Given the description of an element on the screen output the (x, y) to click on. 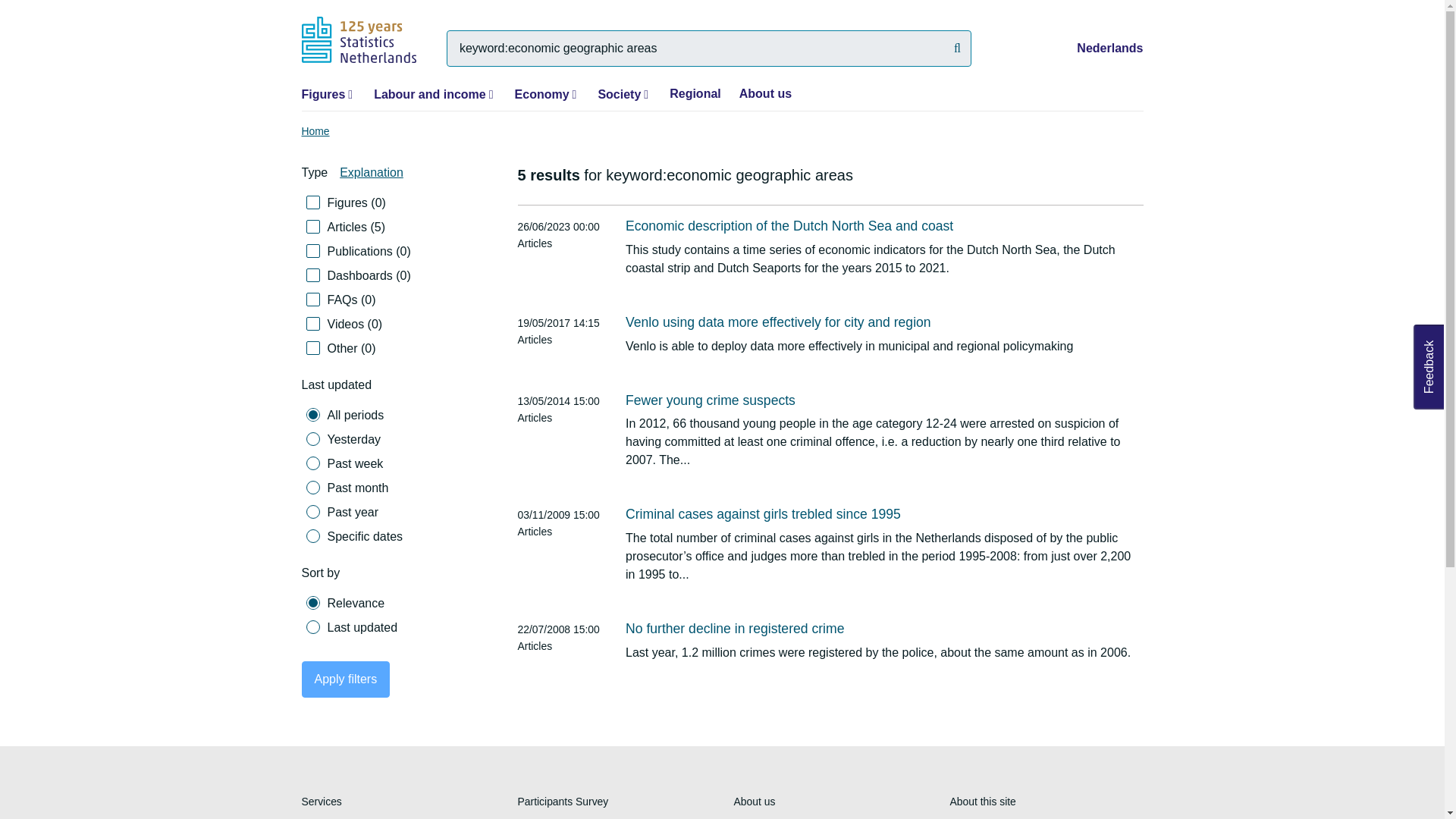
Nederlands (1109, 47)
keyword:economic geographic areas (708, 48)
keyword:economic geographic areas (708, 48)
Society (618, 93)
Labour and income (430, 93)
Figures (323, 93)
CBS home (358, 39)
Regional (694, 92)
Economy (542, 93)
